Given the description of an element on the screen output the (x, y) to click on. 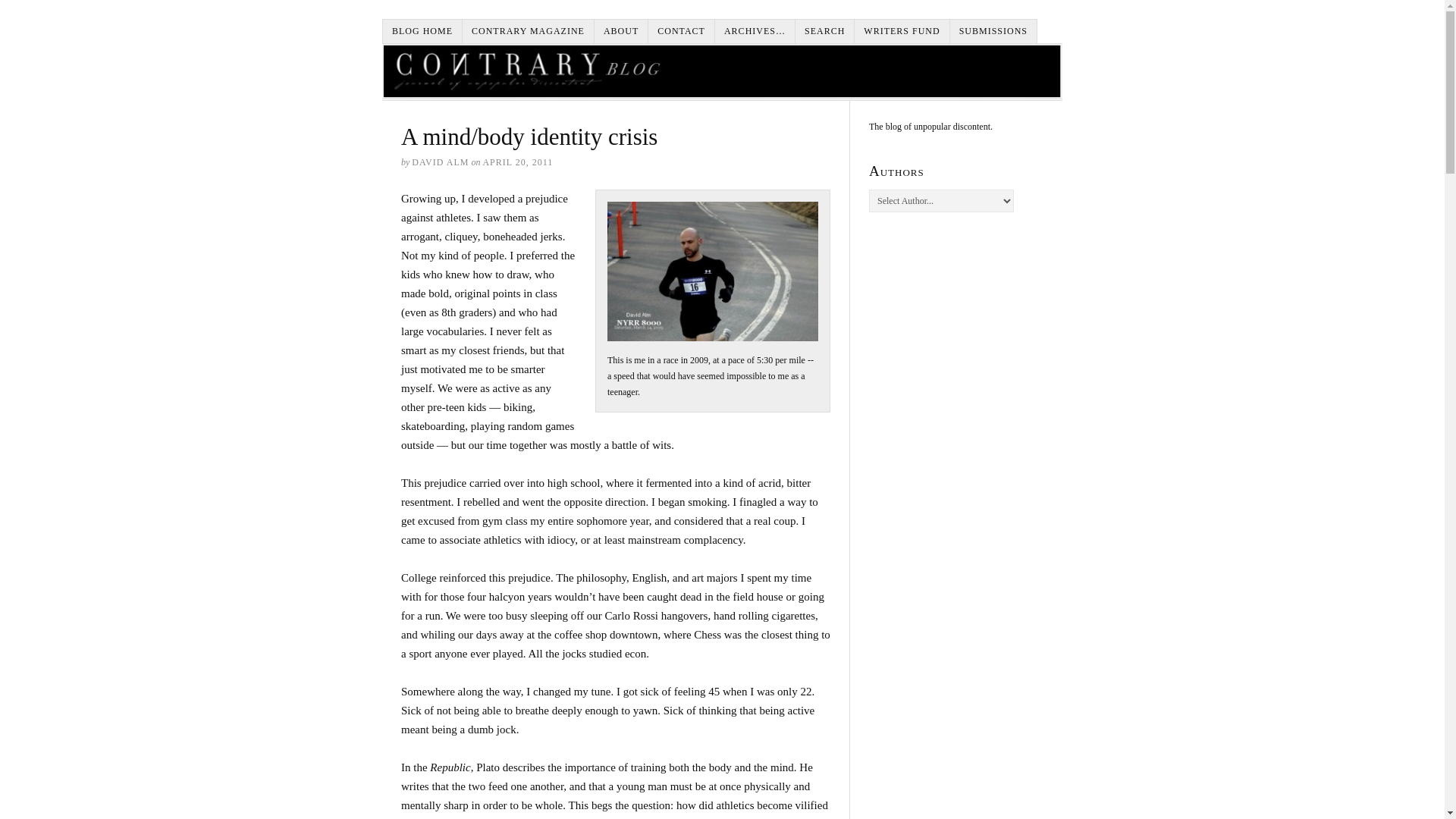
CONTACT (680, 31)
ABOUT (620, 31)
SUBMISSIONS (993, 31)
CONTRARY MAGAZINE (528, 31)
WRITERS FUND (901, 31)
2011-04-20 (517, 162)
BLOG HOME (422, 31)
SEARCH (824, 31)
